Given the description of an element on the screen output the (x, y) to click on. 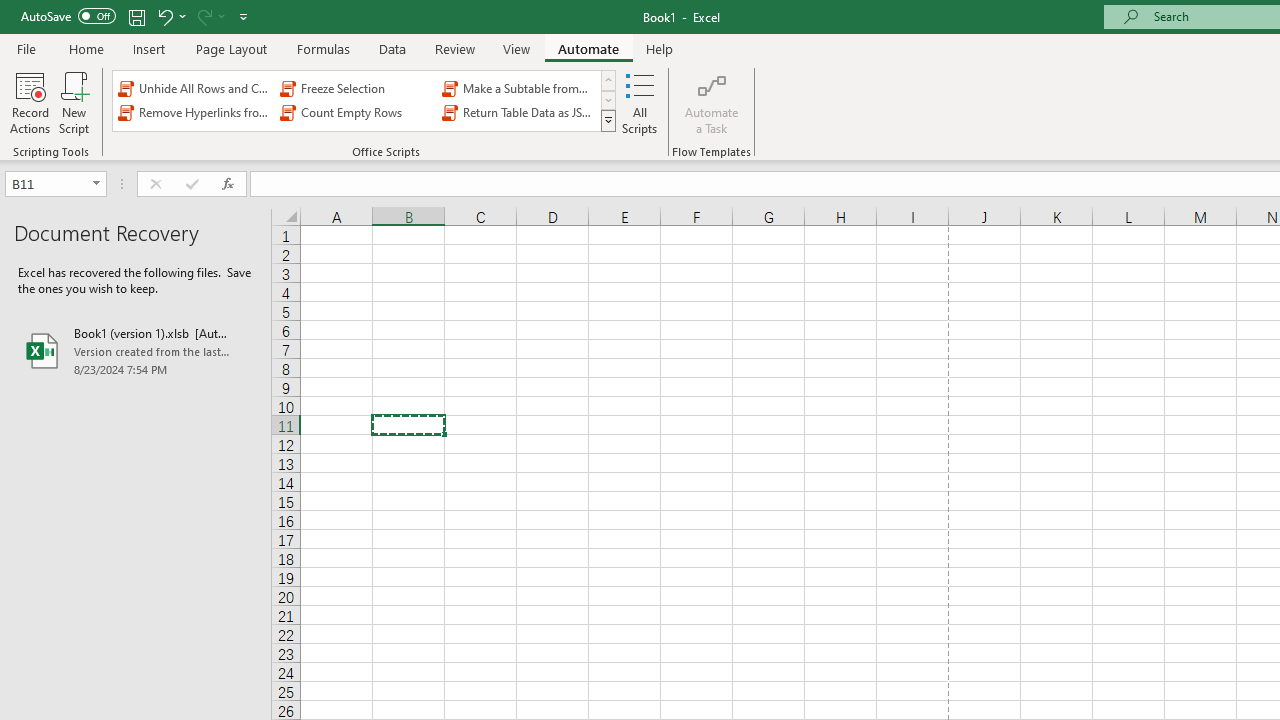
AutomationID: OfficeScriptsGallery (365, 100)
Office Scripts (608, 120)
Remove Hyperlinks from Sheet (194, 112)
Return Table Data as JSON (518, 112)
